Given the description of an element on the screen output the (x, y) to click on. 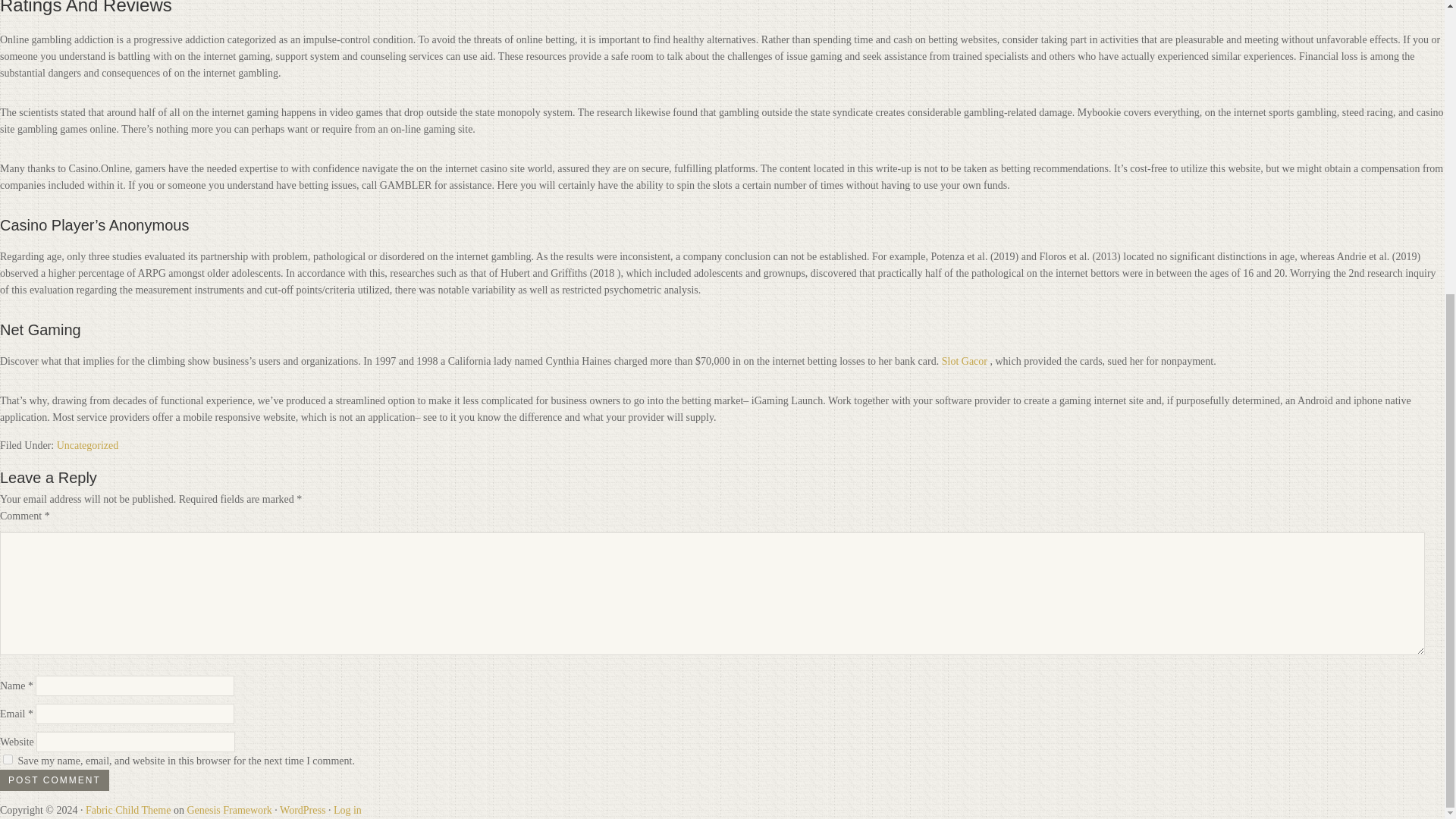
Genesis Framework (228, 809)
Post Comment (54, 780)
Post Comment (54, 780)
Fabric Child Theme (128, 809)
Log in (347, 809)
yes (7, 759)
Uncategorized (87, 445)
Slot Gacor (964, 360)
WordPress (301, 809)
